Given the description of an element on the screen output the (x, y) to click on. 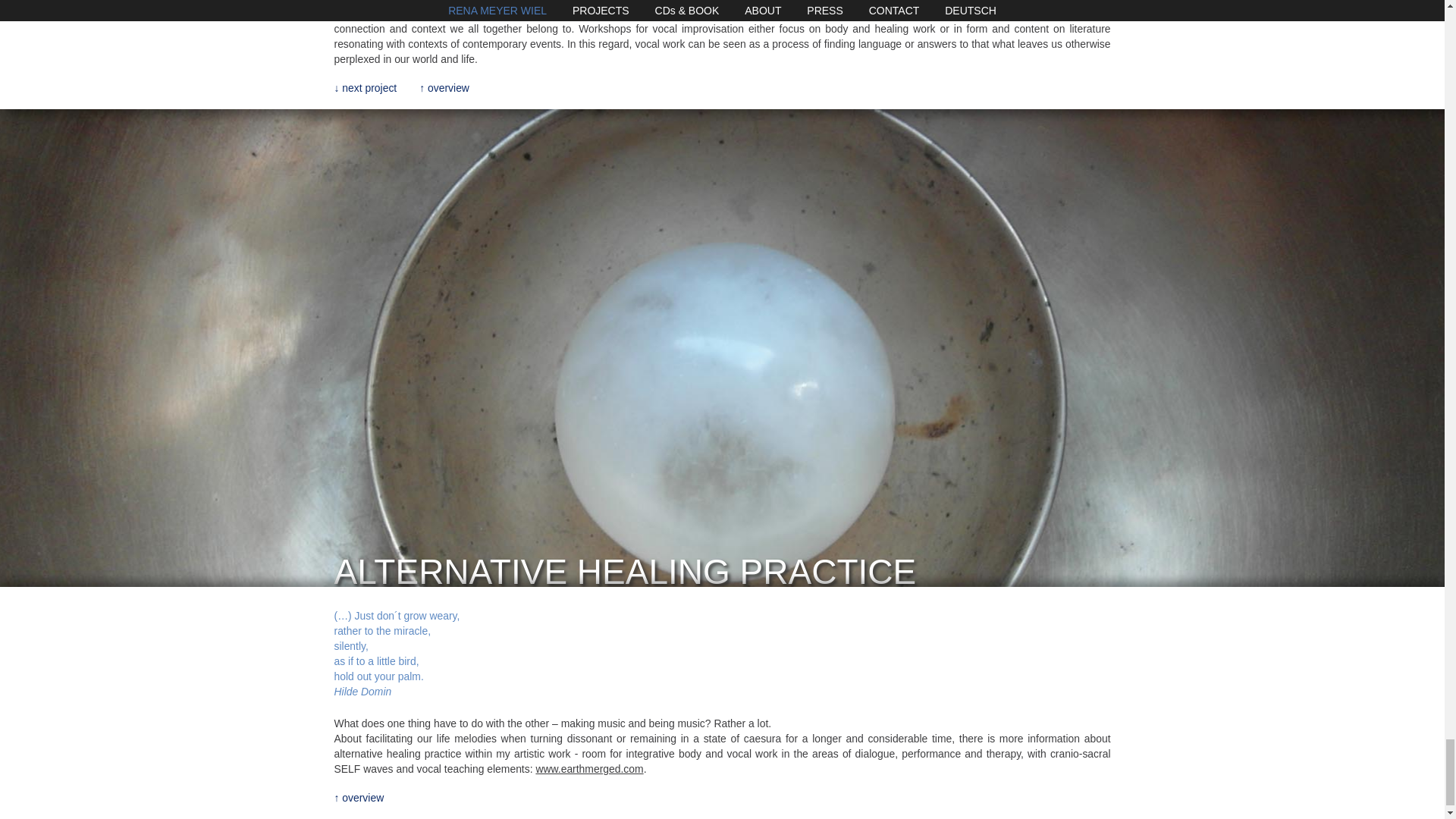
www.earthmerged.com (589, 768)
